Given the description of an element on the screen output the (x, y) to click on. 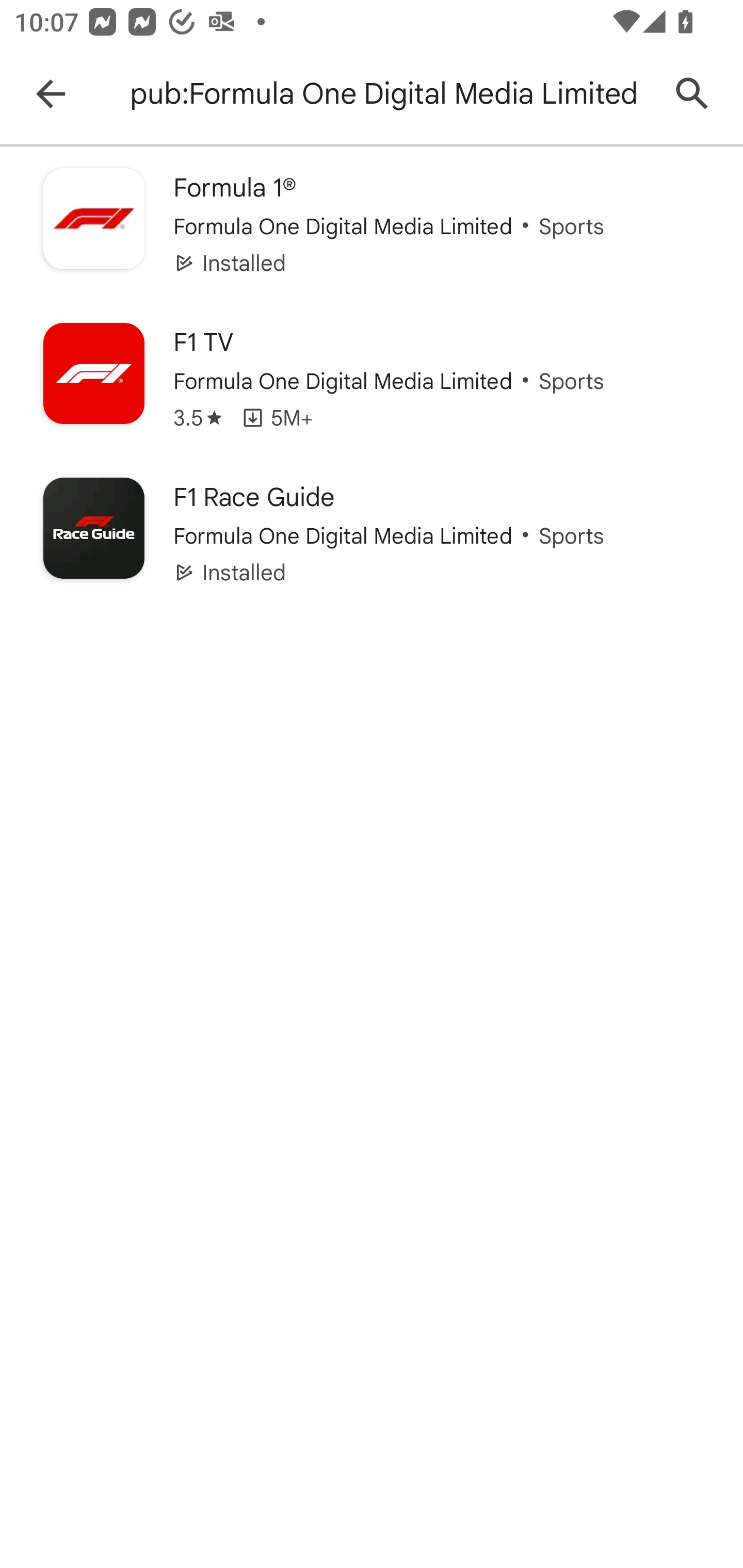
pub:Formula One Digital Media Limited (389, 93)
Navigate up (50, 93)
Search Google Play (692, 93)
